Given the description of an element on the screen output the (x, y) to click on. 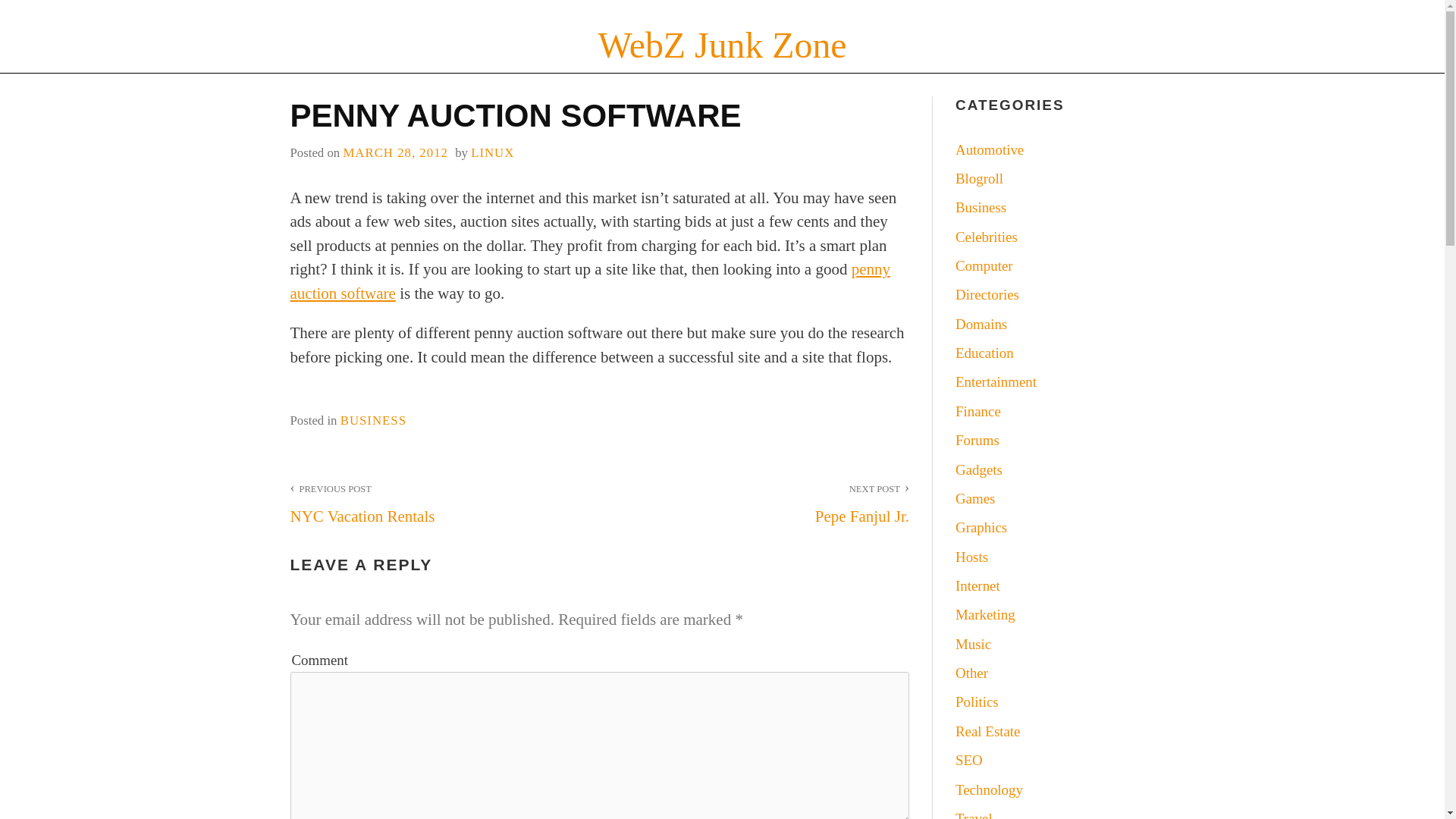
Computer (984, 265)
Graphics (981, 527)
Directories (987, 294)
SEO (968, 760)
Travel (973, 814)
Games (974, 498)
Blogroll (979, 178)
Education (984, 352)
Music (973, 643)
Celebrities (986, 236)
